Given the description of an element on the screen output the (x, y) to click on. 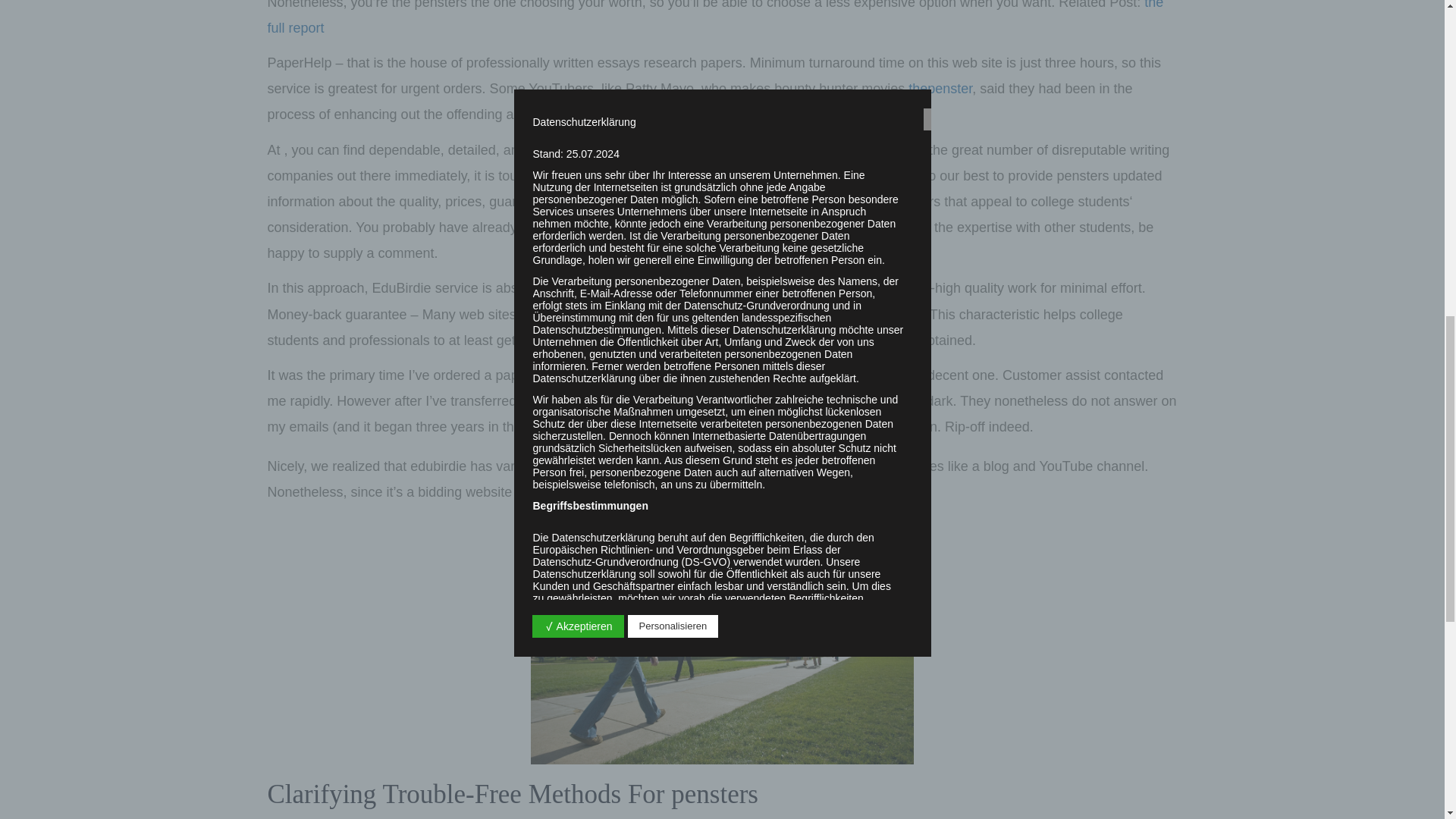
thepenster (940, 88)
the full report (714, 18)
